Given the description of an element on the screen output the (x, y) to click on. 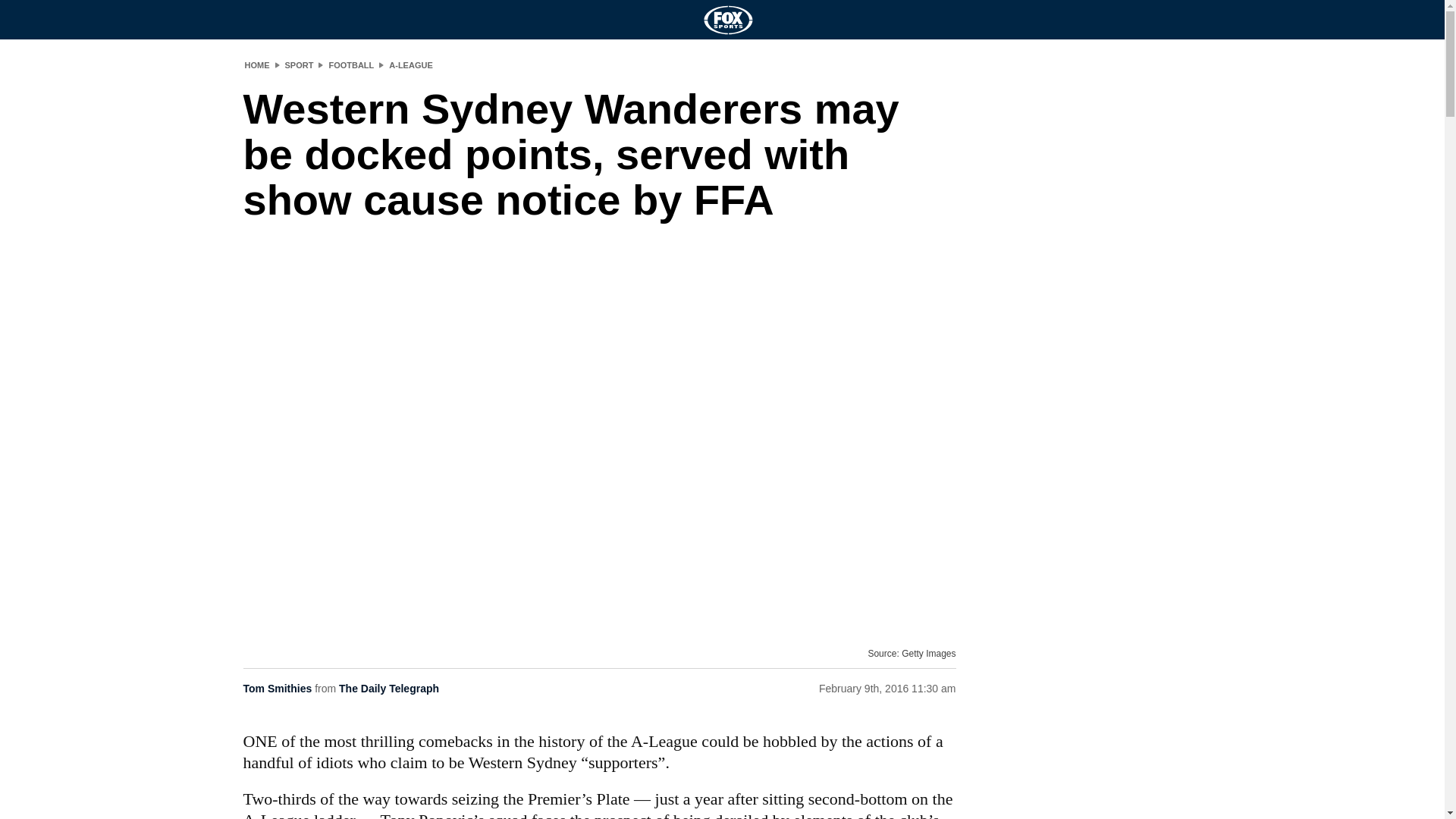
FOOTBALL (350, 64)
SPORT (299, 64)
HOME (256, 64)
A-LEAGUE (410, 64)
